Given the description of an element on the screen output the (x, y) to click on. 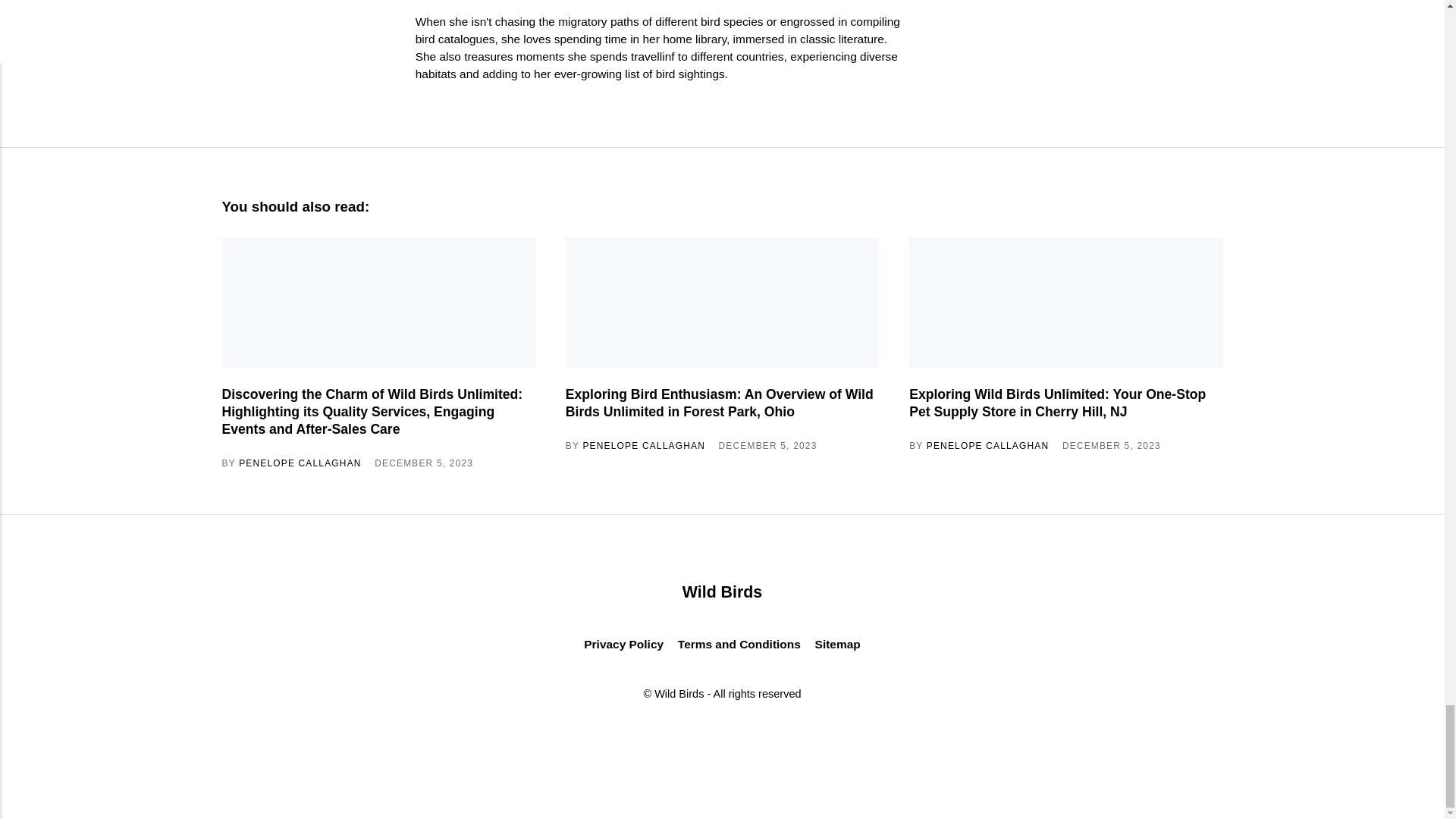
PENELOPE CALLAGHAN (643, 445)
PENELOPE CALLAGHAN (299, 462)
